Given the description of an element on the screen output the (x, y) to click on. 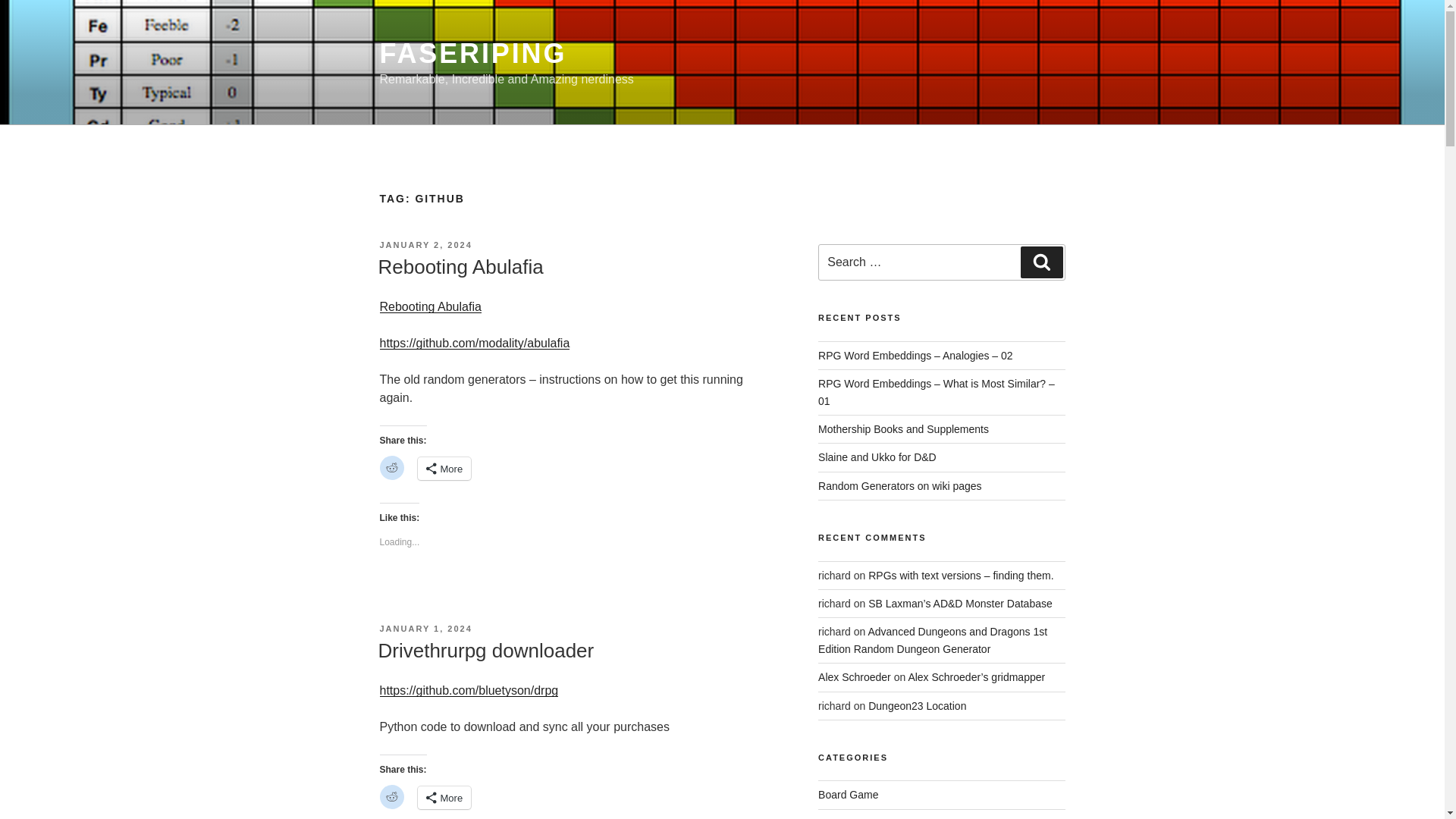
Click to share on Reddit (390, 796)
Rebooting Abulafia (429, 306)
Drivethrurpg downloader (485, 650)
Rebooting Abulafia (460, 266)
More (443, 468)
FASERIPING (472, 52)
More (443, 797)
JANUARY 1, 2024 (424, 628)
JANUARY 2, 2024 (424, 244)
Click to share on Reddit (390, 467)
